Given the description of an element on the screen output the (x, y) to click on. 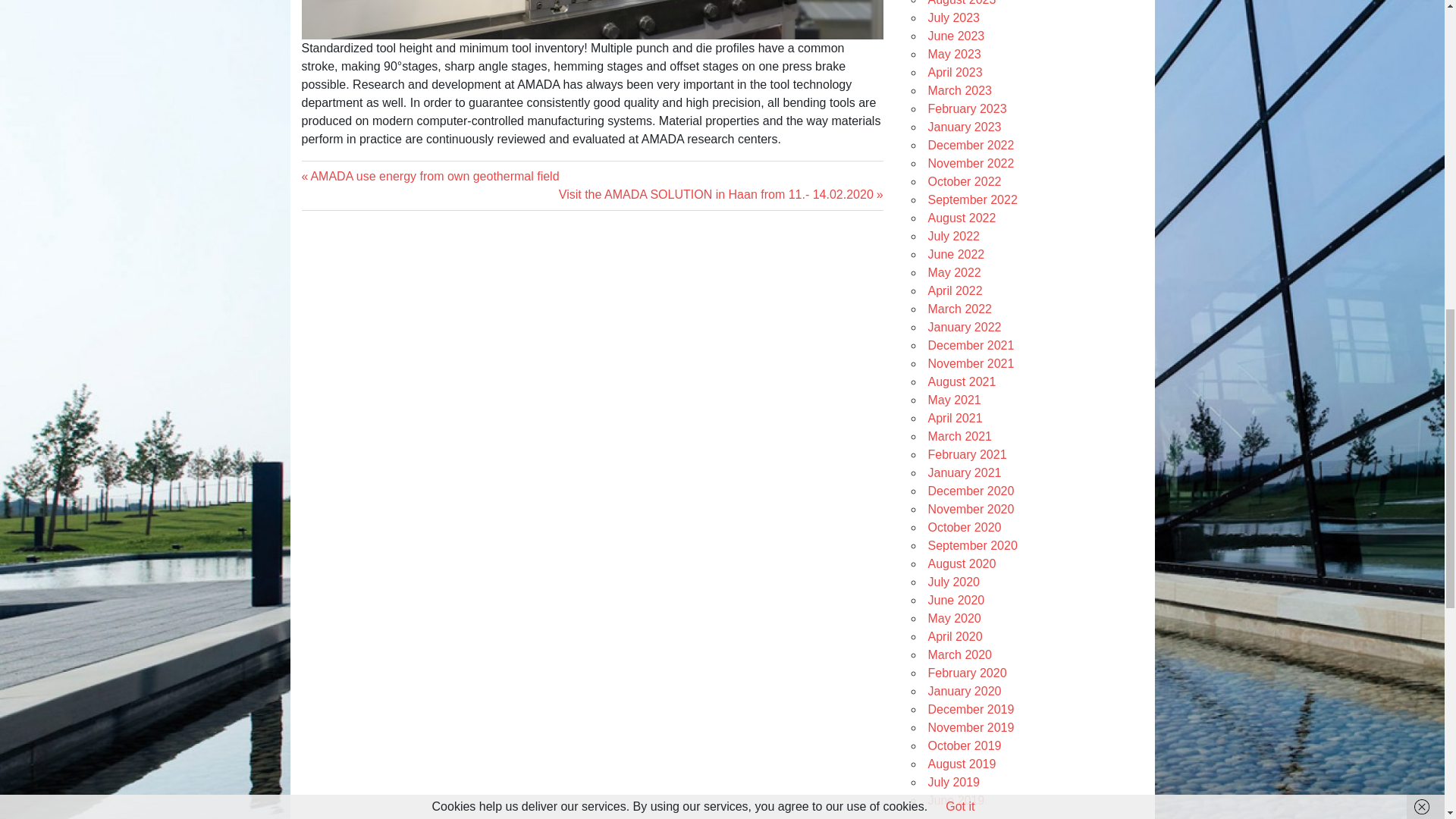
May 2023 (954, 53)
June 2022 (956, 254)
April 2023 (955, 72)
January 2023 (964, 126)
September 2022 (972, 199)
October 2022 (964, 181)
February 2023 (967, 108)
July 2023 (953, 17)
August 2022 (961, 217)
August 2023 (961, 2)
March 2023 (960, 90)
June 2023 (430, 175)
July 2022 (956, 35)
